Given the description of an element on the screen output the (x, y) to click on. 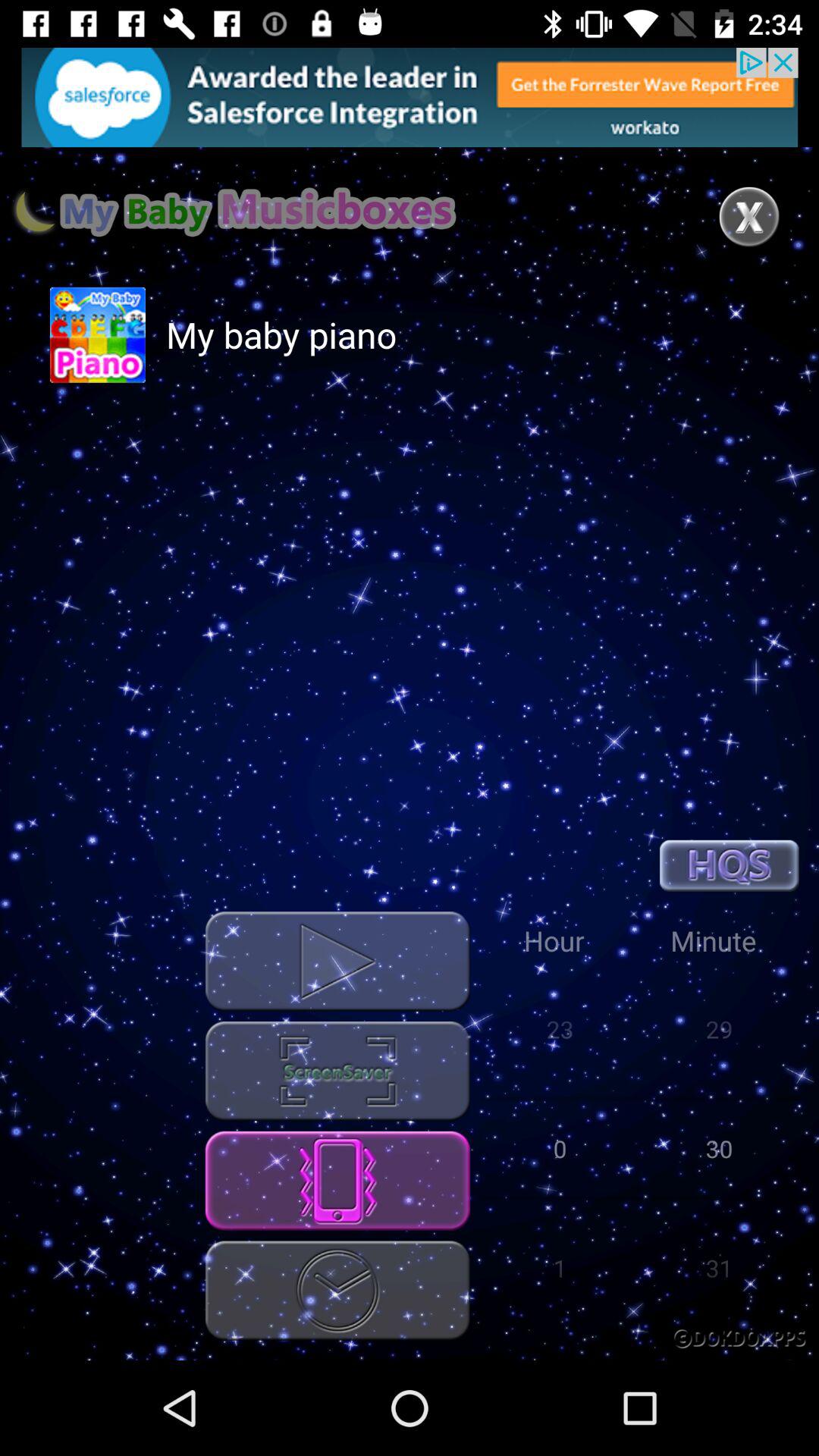
timing option (337, 1290)
